Given the description of an element on the screen output the (x, y) to click on. 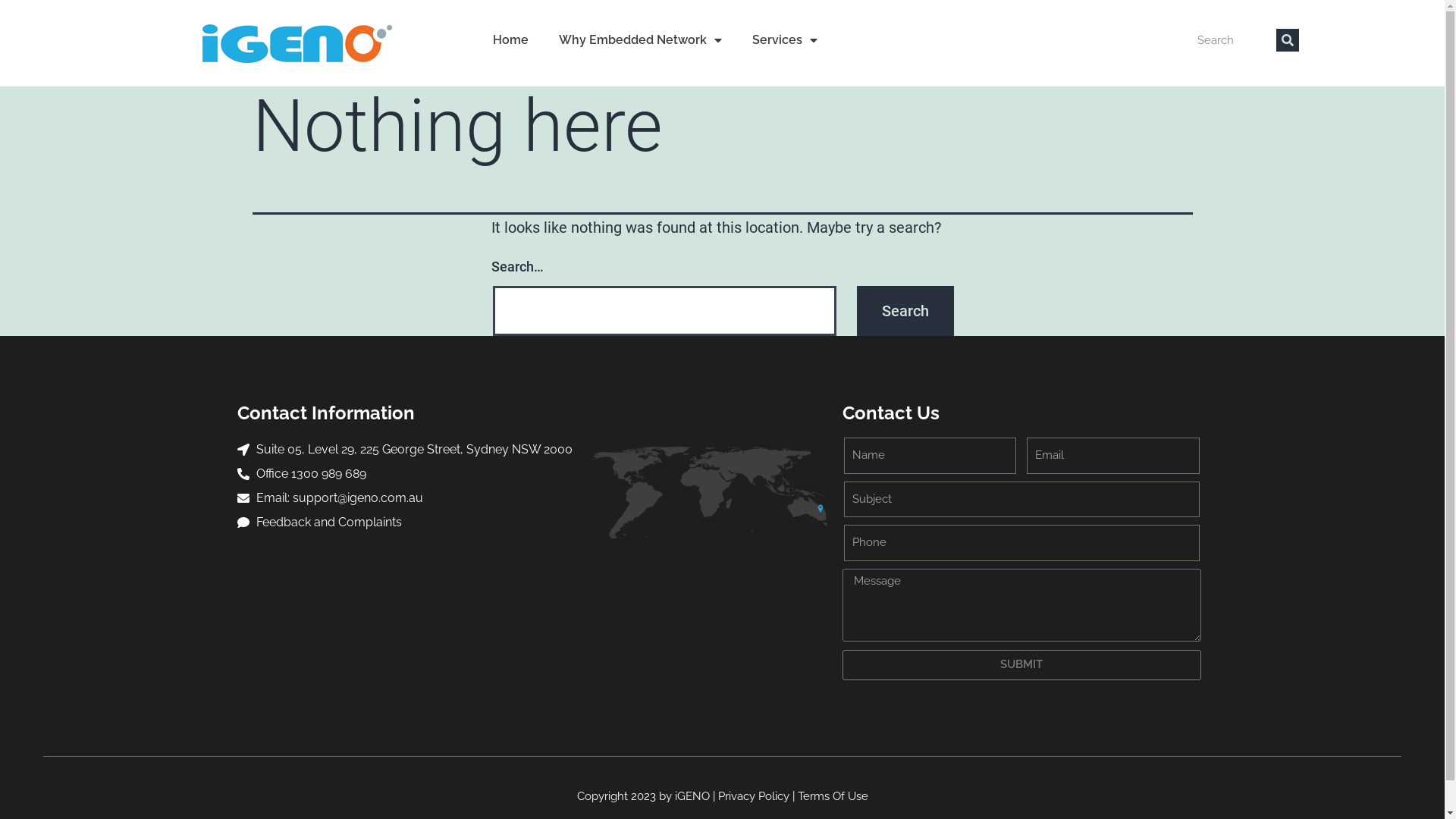
Feedback and Complaints Element type: text (405, 522)
SUBMIT Element type: text (1021, 664)
Search Element type: text (904, 310)
Privacy Policy Element type: text (752, 796)
Services Element type: text (784, 39)
Why Embedded Network Element type: text (640, 39)
Home Element type: text (510, 39)
Email: support@igeno.com.au Element type: text (405, 498)
